Given the description of an element on the screen output the (x, y) to click on. 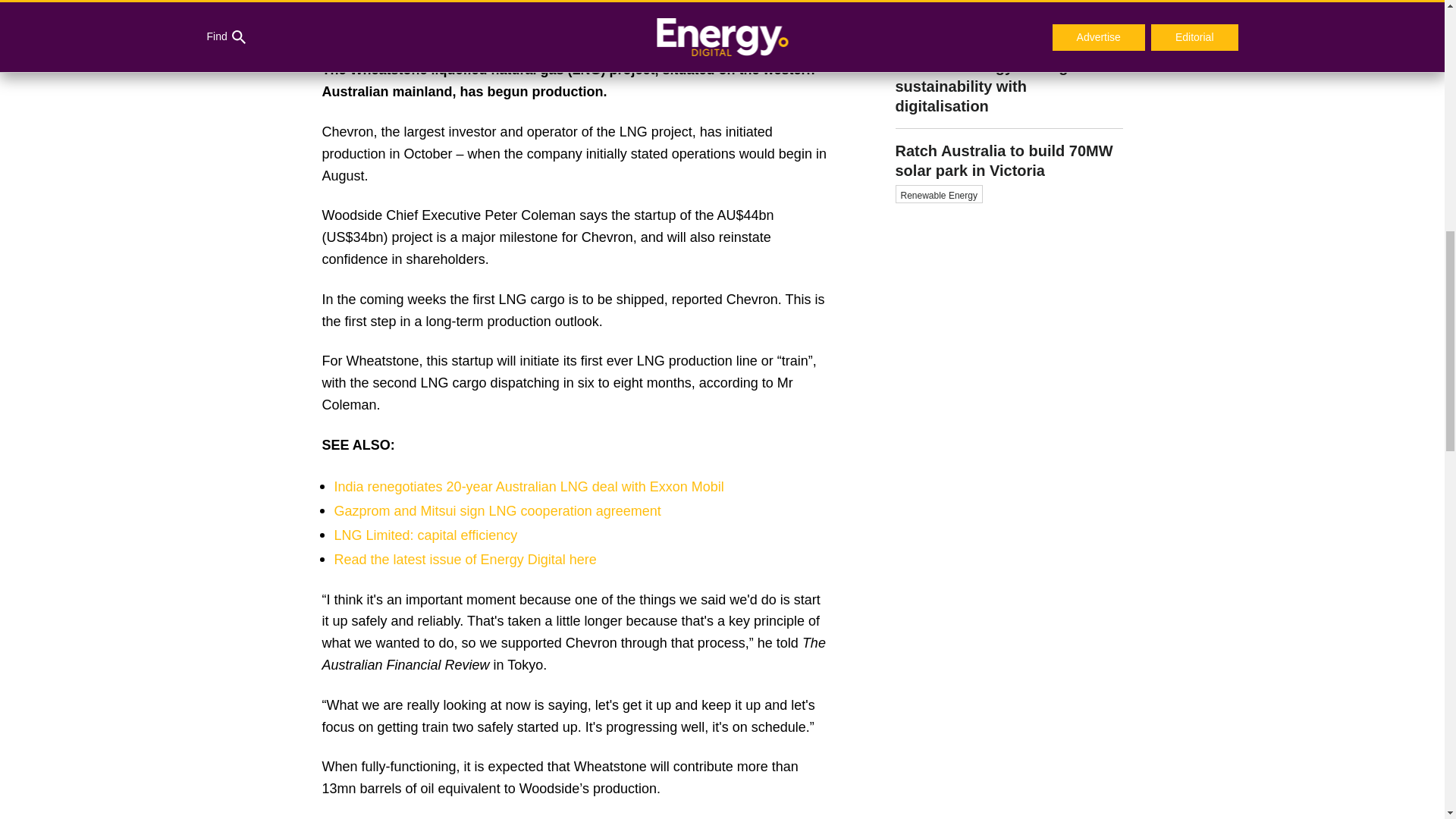
Gazprom and Mitsui sign LNG cooperation agreement (497, 510)
Read the latest issue of Energy Digital here (464, 559)
Simona Rossetti (1008, 22)
Siemens Energy driving sustainability with digitalisation (1008, 86)
LNG Limited: capital efficiency (424, 534)
